Given the description of an element on the screen output the (x, y) to click on. 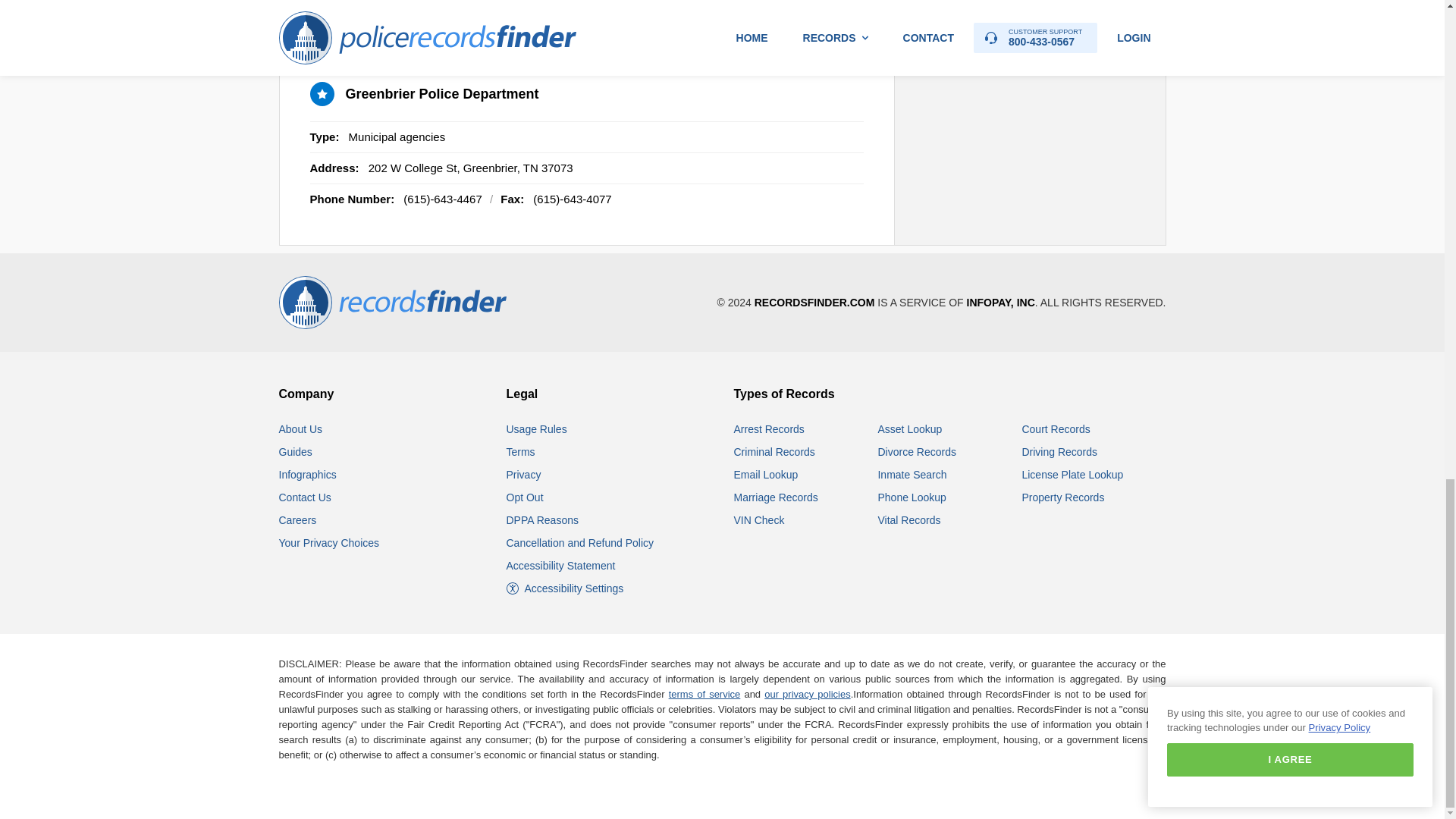
RecordsFinder.com Usage Rules (536, 428)
View Public Records Infographics and Statistics (307, 474)
RecordsFinder.com DPPA Reasons (542, 520)
Your Privacy Choices (329, 542)
Guides and How tos (296, 451)
RecordsFinder.com Opt Out Instructions (524, 497)
About RecordsFinder.com (301, 428)
RecordsFinder.com Privacy Policy (523, 474)
RecordsFinder.com Terms and Conditions (520, 451)
Customer reviews powered by Trustpilot (1037, 787)
